Given the description of an element on the screen output the (x, y) to click on. 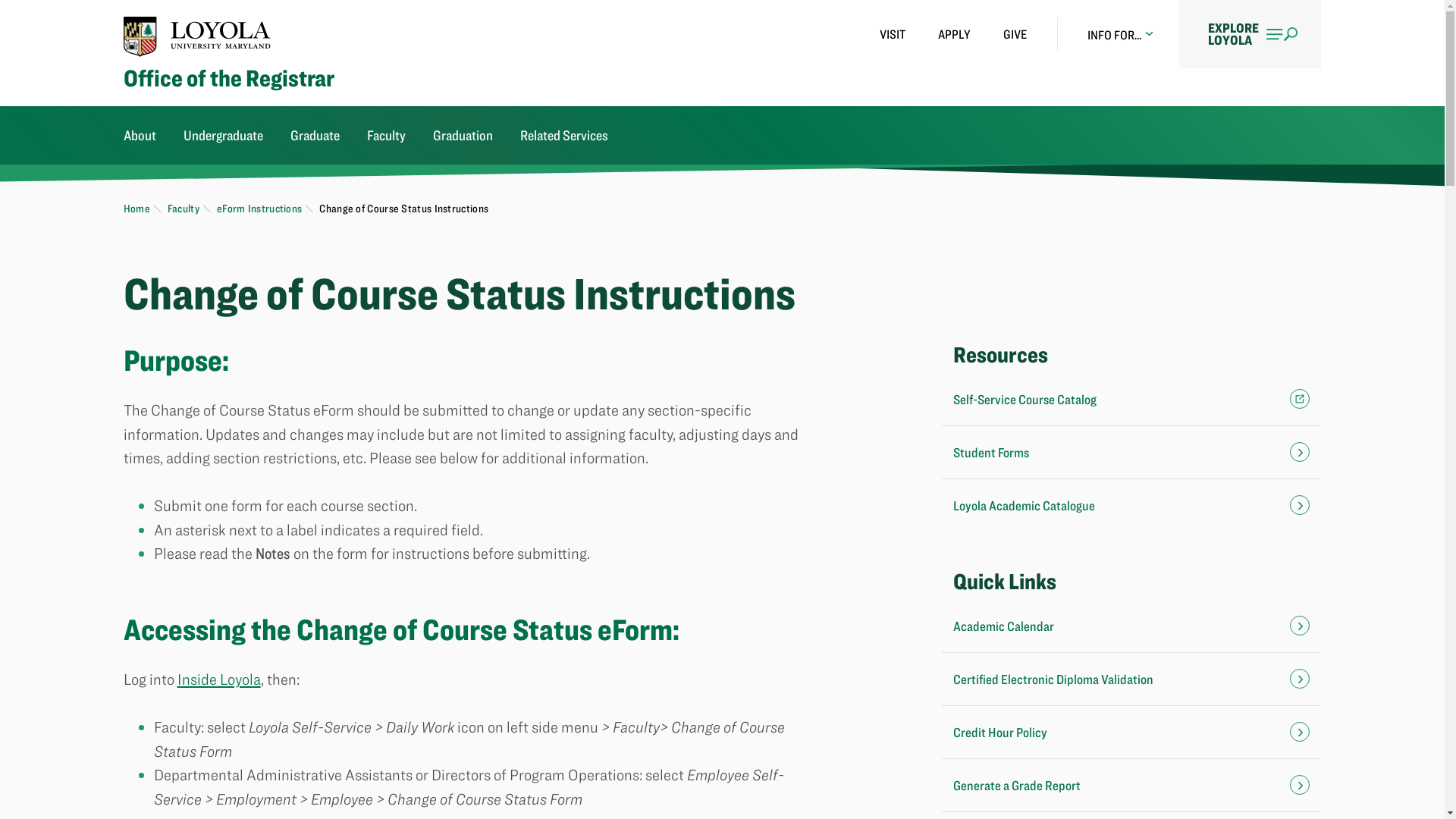
VISIT (892, 34)
APPLY (954, 34)
Logo (196, 35)
EXPLORE LOYOLA (1249, 33)
GIVE (1015, 34)
